Given the description of an element on the screen output the (x, y) to click on. 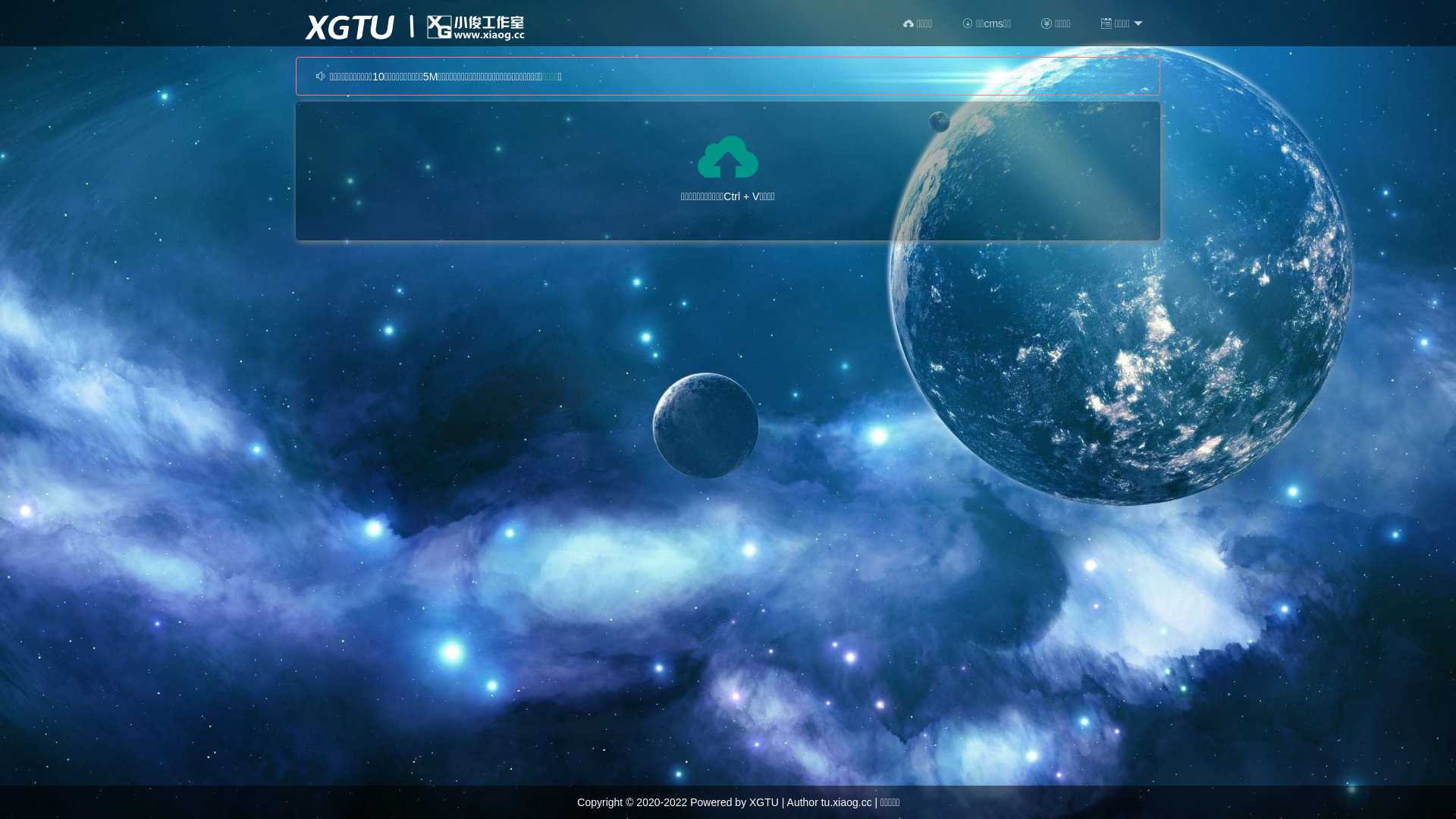
tu.xiaog.cc Element type: text (846, 802)
XGTU Element type: text (763, 802)
